Given the description of an element on the screen output the (x, y) to click on. 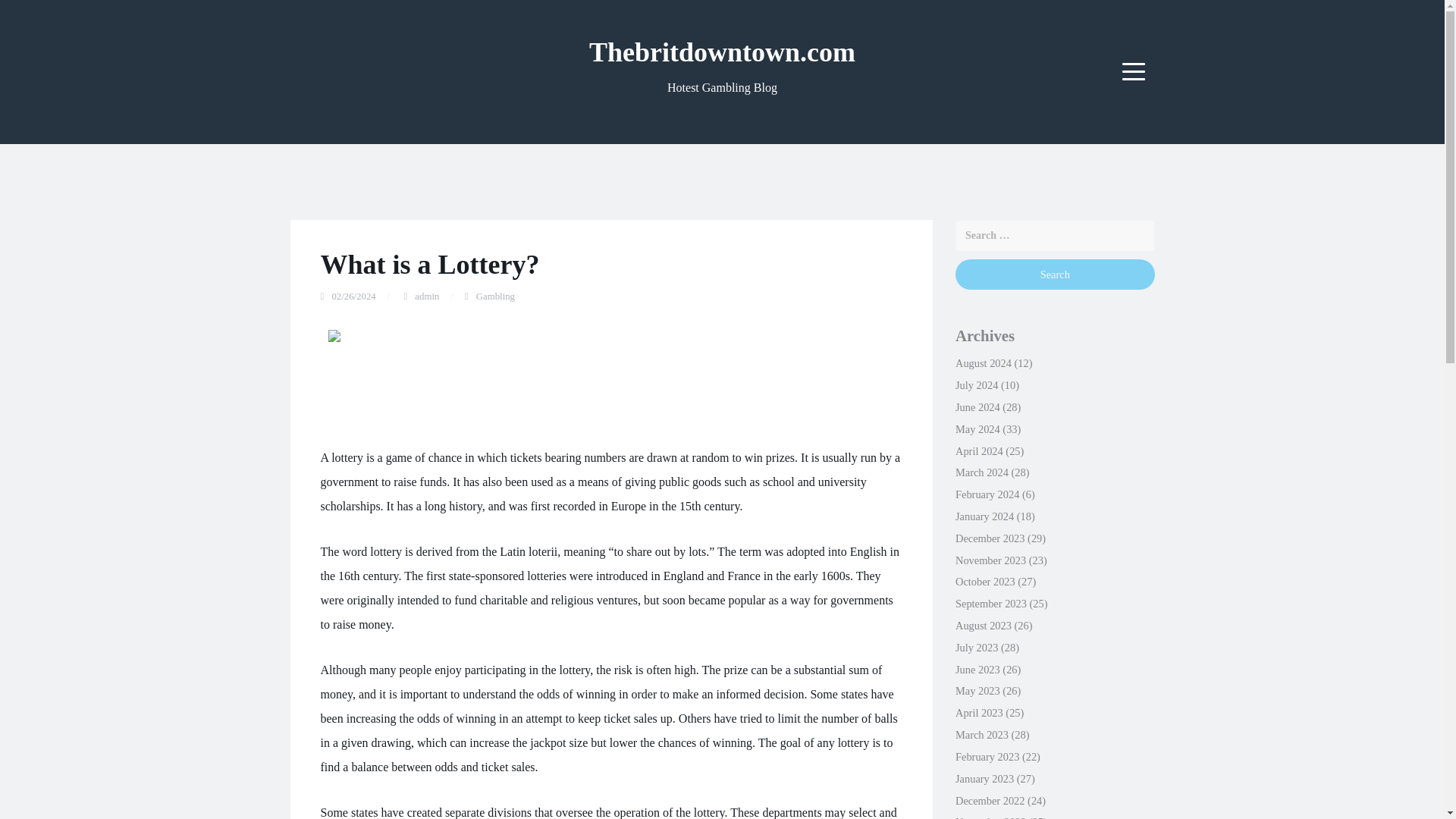
May 2024 (977, 428)
Menu (1133, 71)
December 2023 (990, 538)
March 2023 (982, 734)
November 2022 (990, 817)
Gambling (495, 296)
August 2024 (983, 363)
April 2023 (979, 712)
January 2023 (984, 778)
March 2024 (982, 472)
